Given the description of an element on the screen output the (x, y) to click on. 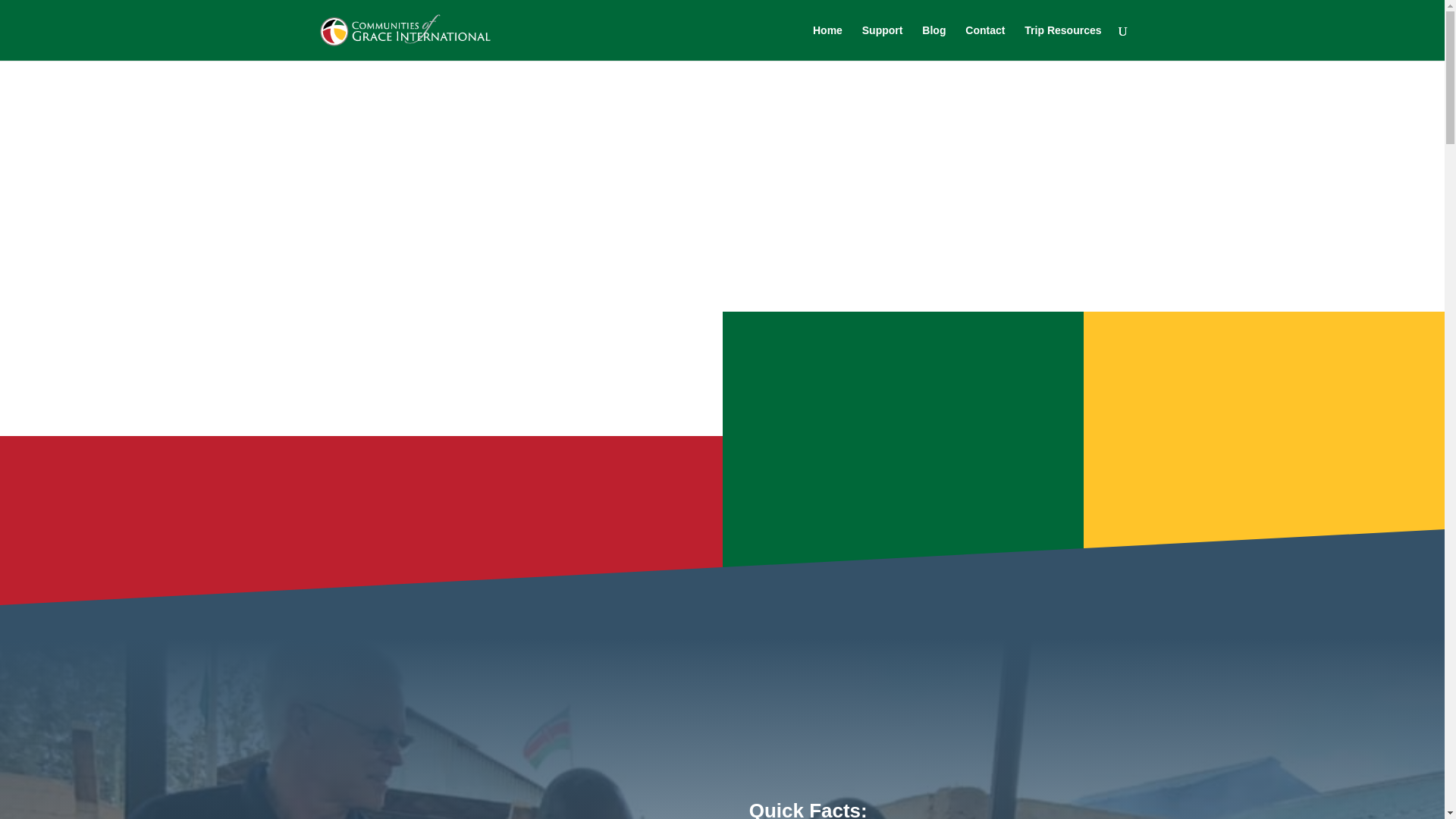
Contact (984, 42)
Support (881, 42)
Trip Resources (1062, 42)
